Given the description of an element on the screen output the (x, y) to click on. 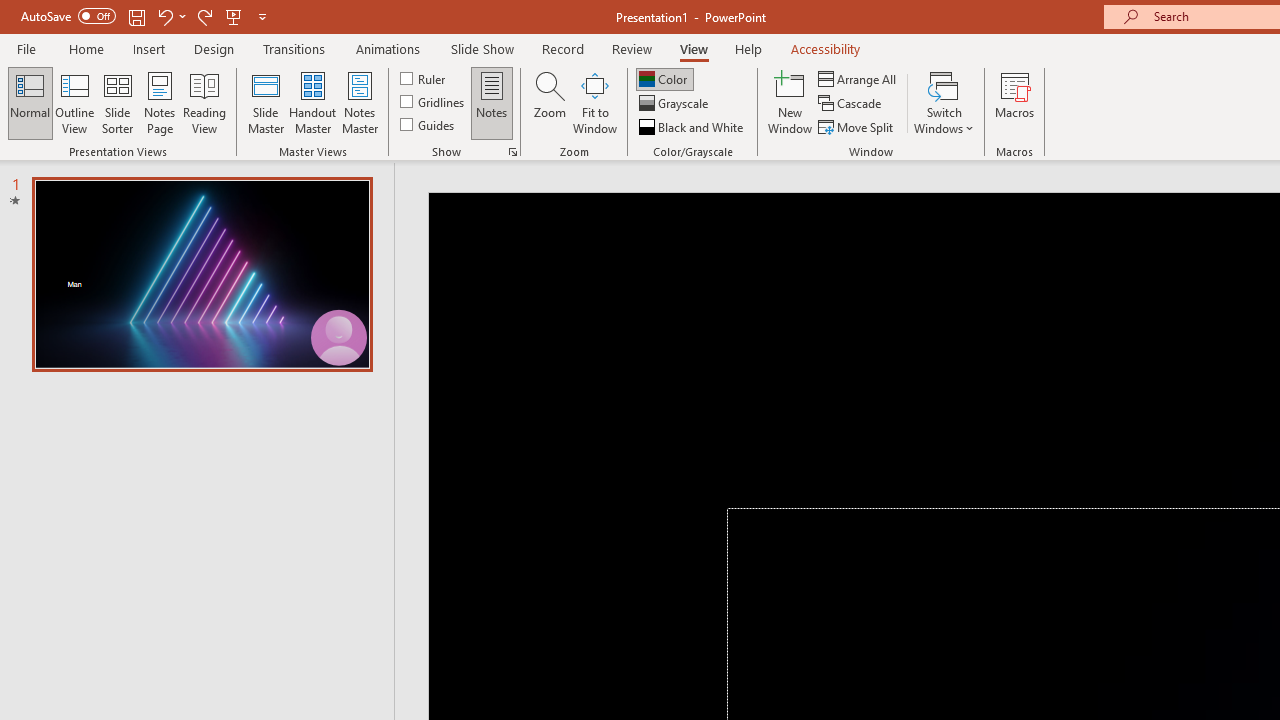
Notes Master (360, 102)
Ruler (423, 78)
Cascade (851, 103)
Grid Settings... (512, 151)
